Given the description of an element on the screen output the (x, y) to click on. 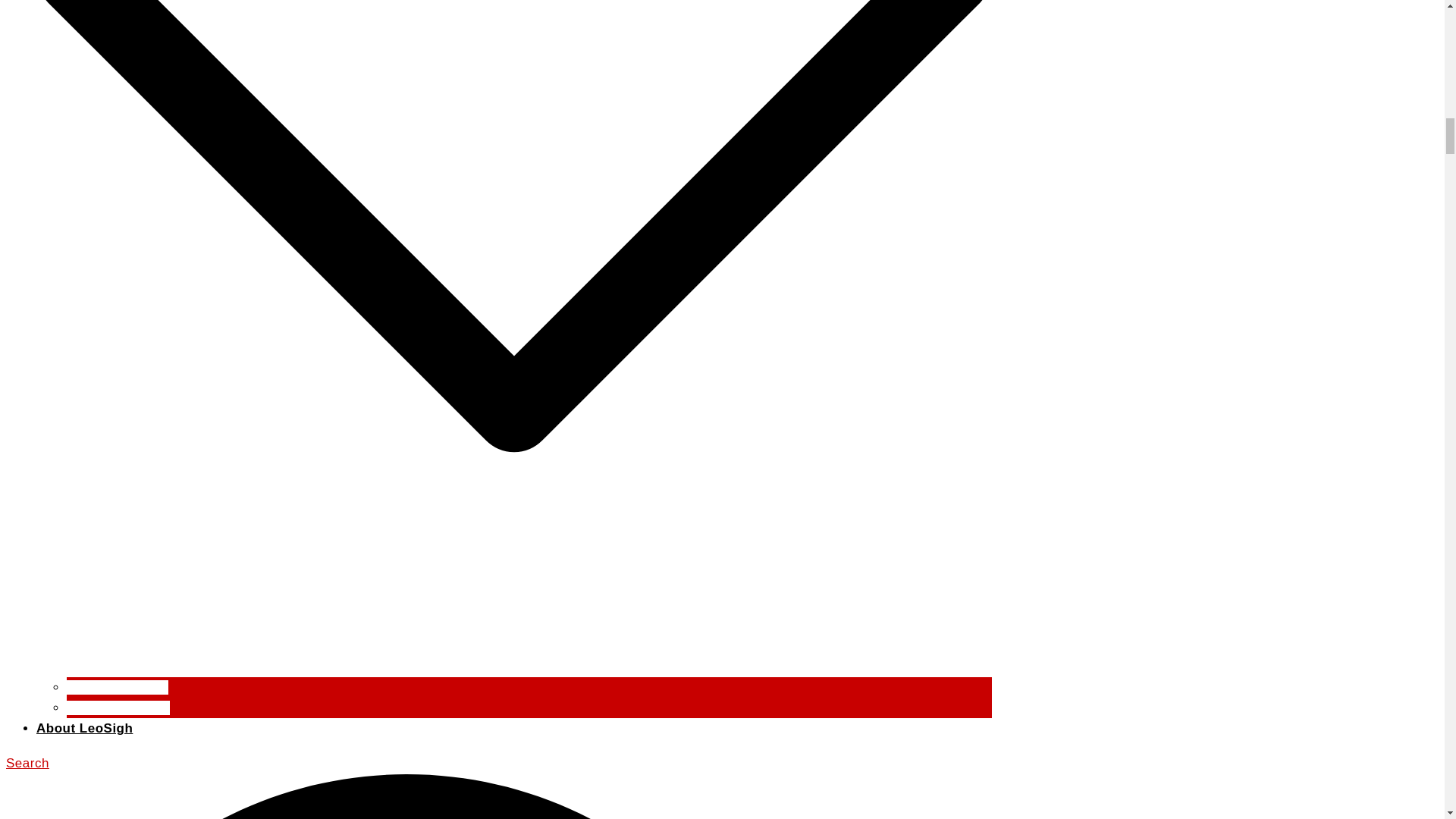
Non-Asian Music (118, 707)
About LeoSigh (84, 728)
Search (498, 787)
